Given the description of an element on the screen output the (x, y) to click on. 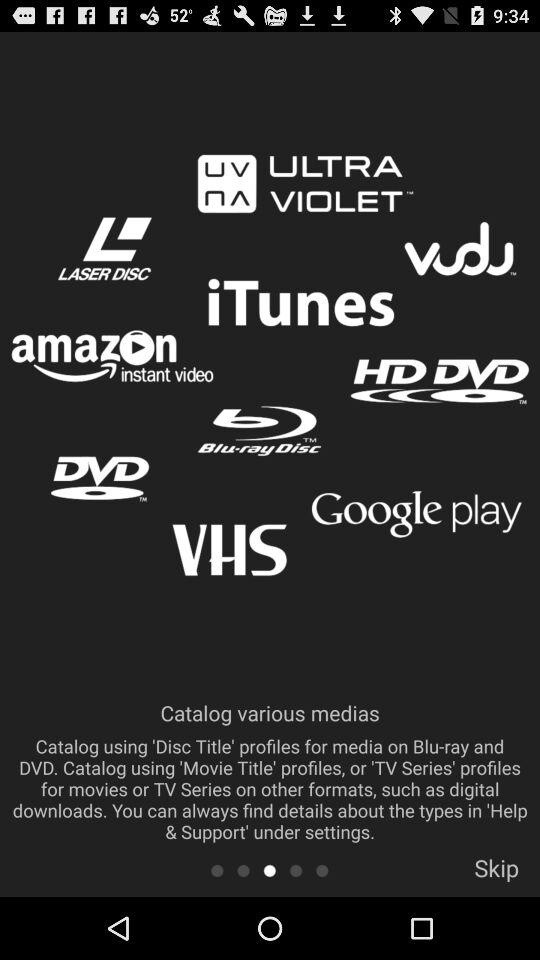
choose the item below catalog various medias icon (269, 870)
